Given the description of an element on the screen output the (x, y) to click on. 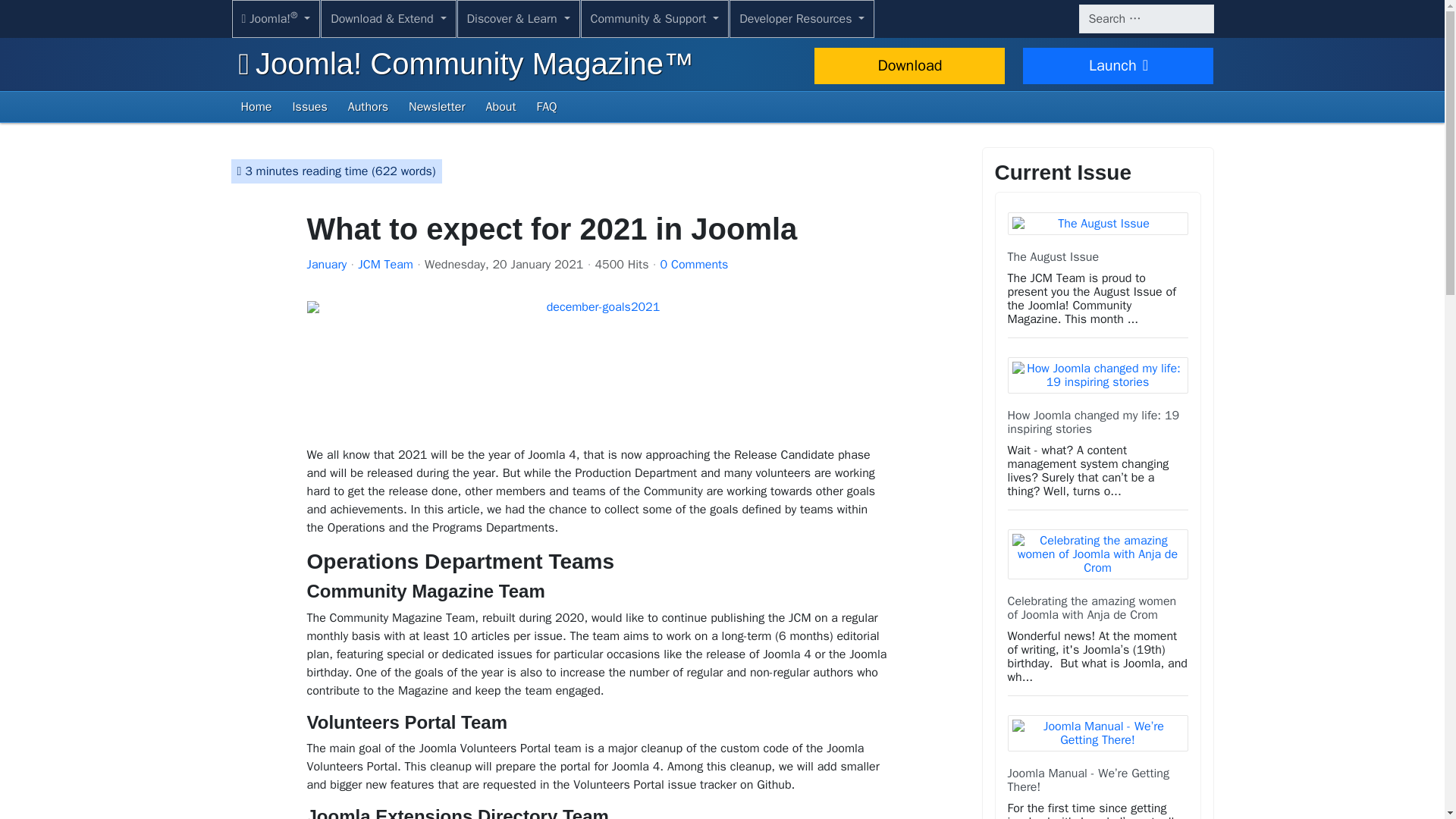
december-goals2021 (595, 367)
The August Issue (1053, 256)
women-in-joomla-anja (1097, 554)
JCM-Joomla-Manual-August (1097, 732)
How Joomla changed my life: 19 inspiring stories (1093, 421)
Celebrating the amazing women of Joomla with Anja de Crom (1091, 607)
how-joomla-changed-my-life (1097, 375)
august-edition (1097, 223)
Developer Resources (802, 18)
